Given the description of an element on the screen output the (x, y) to click on. 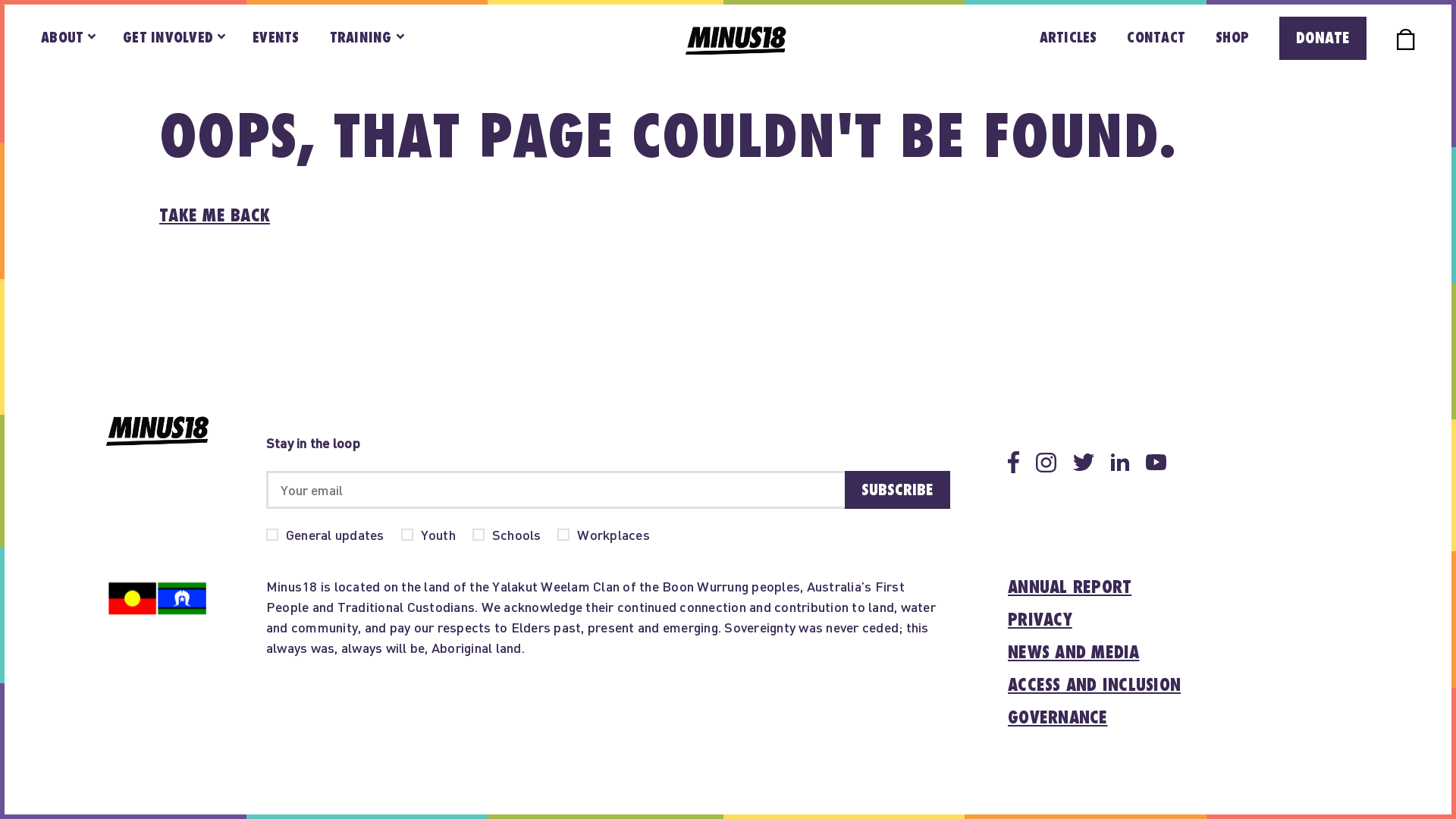
NEWS AND MEDIA Element type: text (1073, 652)
CONTACT Element type: text (1155, 37)
TAKE ME BACK Element type: text (214, 215)
ANNUAL REPORT Element type: text (1069, 587)
DONATE Element type: text (1322, 37)
SHOP Element type: text (1231, 37)
SUBSCRIBE Element type: text (897, 489)
ARTICLES Element type: text (1068, 37)
EVENTS Element type: text (275, 37)
ACCESS AND INCLUSION Element type: text (1093, 685)
GOVERNANCE Element type: text (1057, 718)
PRIVACY Element type: text (1039, 620)
